Given the description of an element on the screen output the (x, y) to click on. 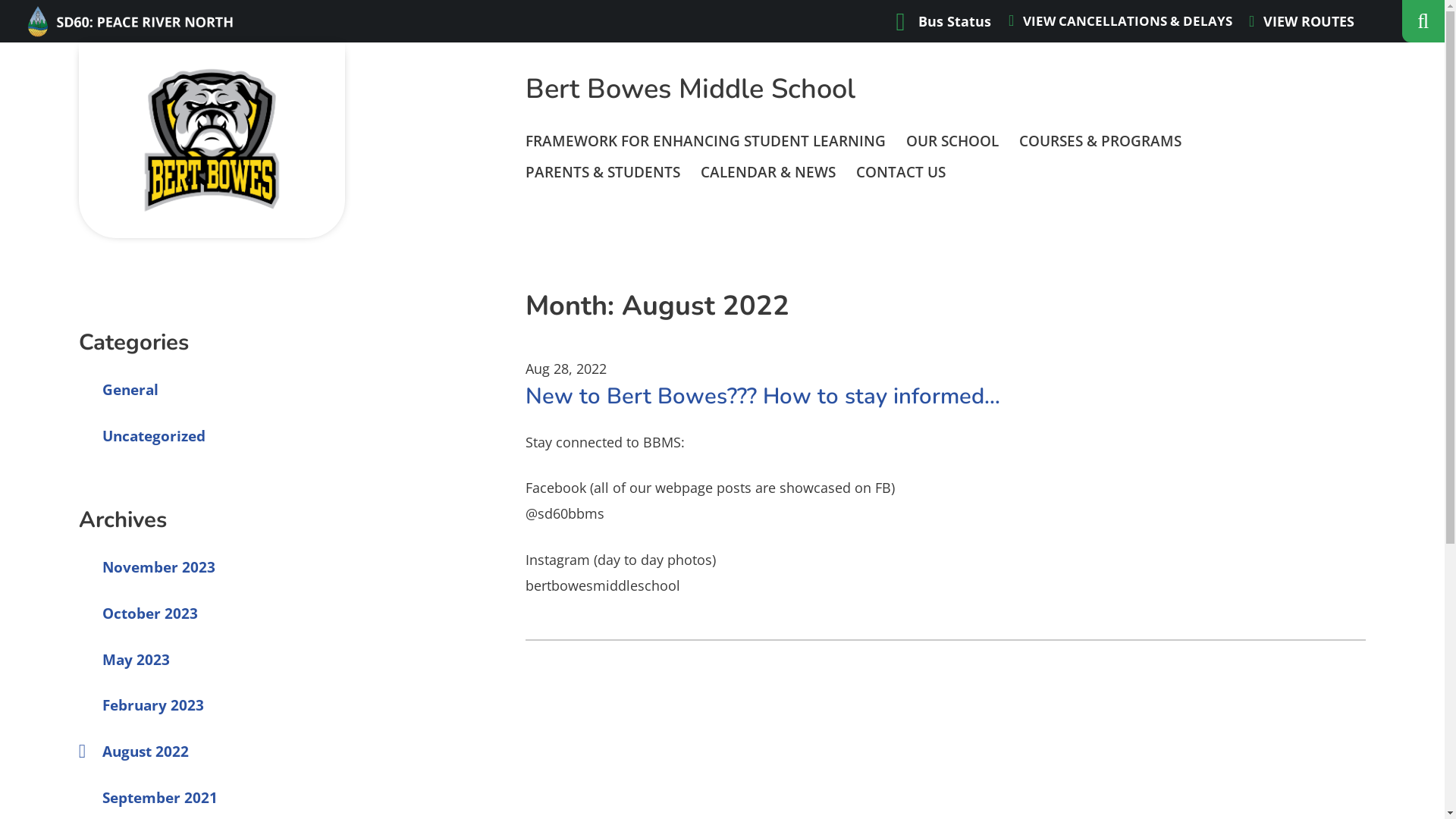
FRAMEWORK FOR ENHANCING STUDENT LEARNING Element type: text (705, 140)
February 2023 Element type: text (141, 705)
CALENDAR & NEWS Element type: text (767, 172)
PARENTS & STUDENTS Element type: text (602, 172)
August 2022 Element type: text (133, 751)
November 2023 Element type: text (147, 567)
COURSES & PROGRAMS Element type: text (1100, 140)
September 2021 Element type: text (148, 797)
CONTACT US Element type: text (900, 172)
General Element type: text (118, 389)
VIEW ROUTES Element type: text (1301, 20)
May 2023 Element type: text (124, 659)
October 2023 Element type: text (138, 613)
VIEW CANCELLATIONS & DELAYS Element type: text (1120, 20)
OUR SCHOOL Element type: text (952, 140)
Uncategorized Element type: text (142, 435)
Bert Bowes Middle School Element type: text (690, 88)
